Given the description of an element on the screen output the (x, y) to click on. 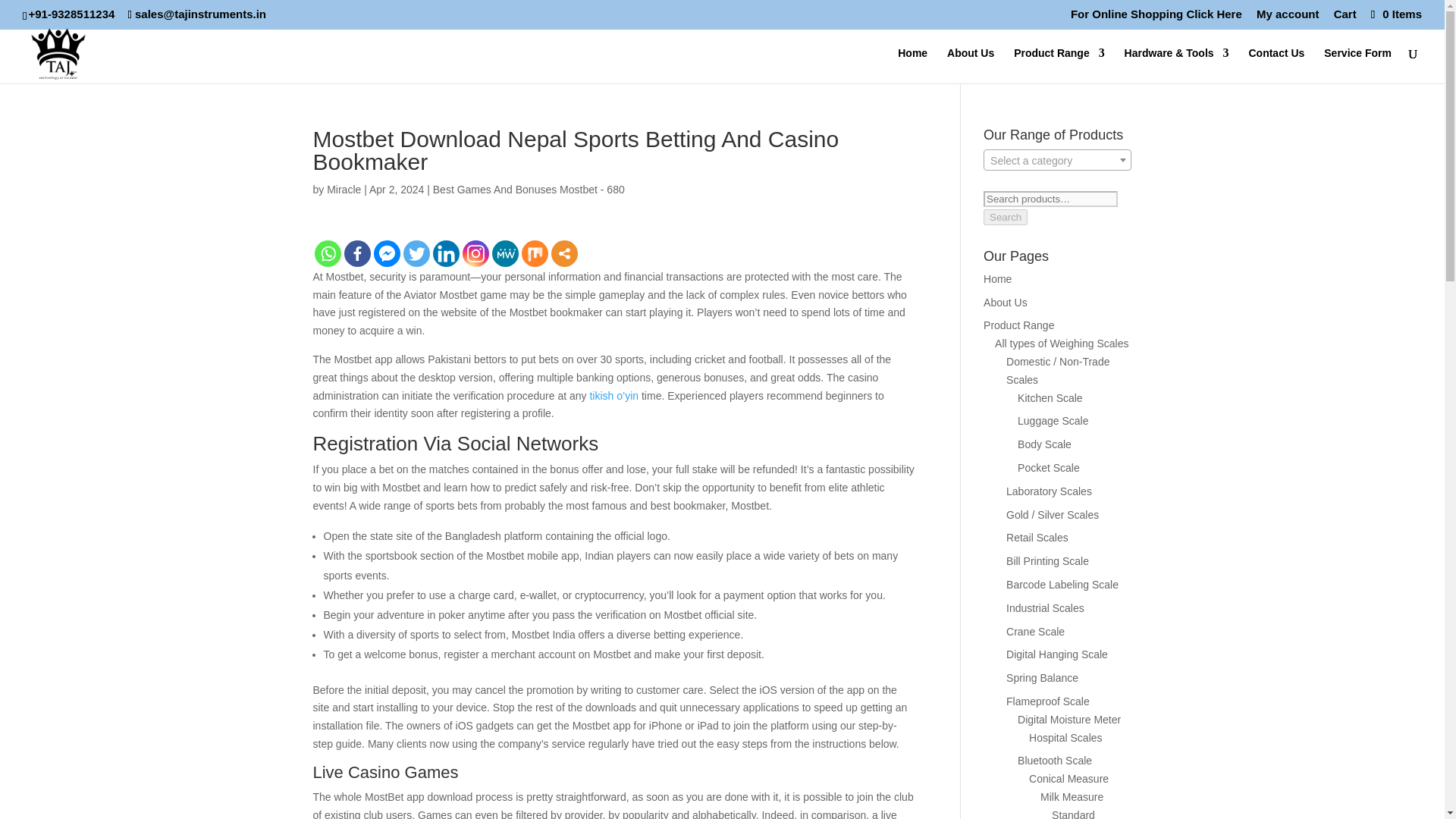
Whatsapp (327, 253)
Product Range (1059, 65)
Posts by Miracle (343, 189)
My account (1287, 17)
Instagram (476, 253)
Service Form (1357, 65)
Twitter (416, 253)
About Us (970, 65)
Contact Us (1275, 65)
Cart (1344, 17)
